Given the description of an element on the screen output the (x, y) to click on. 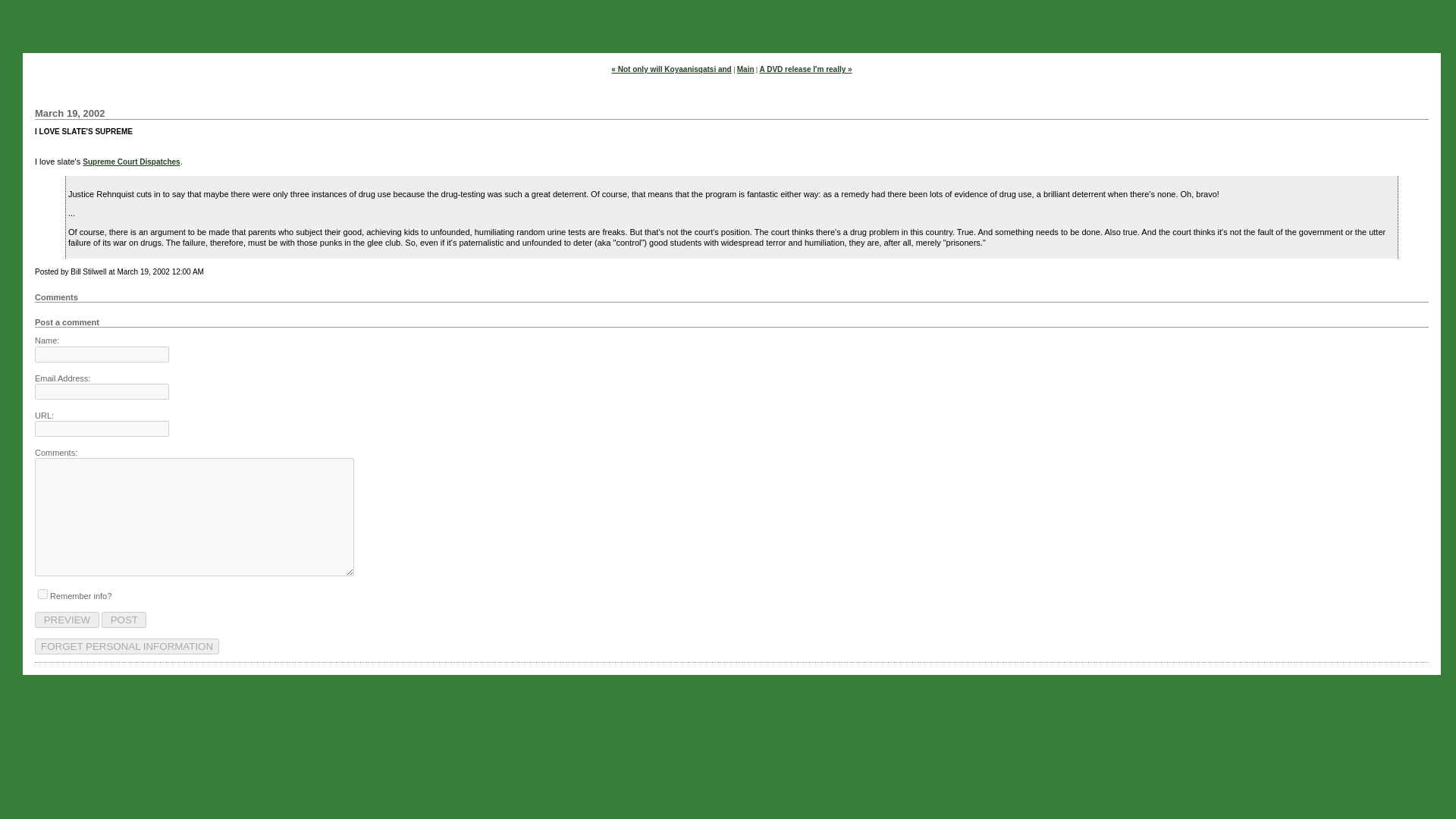
Supreme Court Dispatches (130, 162)
Main (745, 69)
on (42, 593)
